Given the description of an element on the screen output the (x, y) to click on. 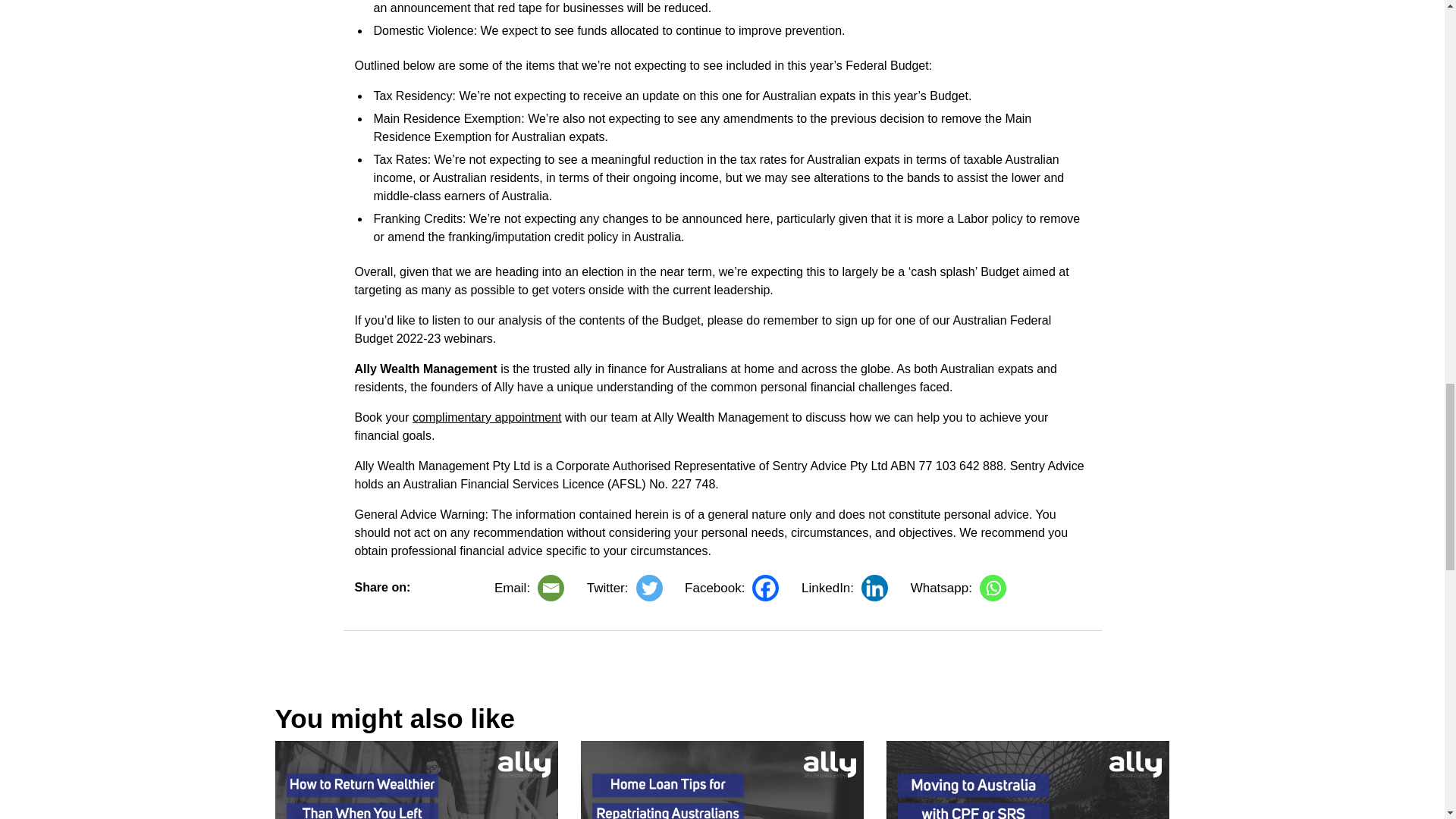
Whatsapp (958, 587)
Twitter (624, 587)
Facebook (731, 587)
Linkedin (845, 587)
Email (529, 587)
